Given the description of an element on the screen output the (x, y) to click on. 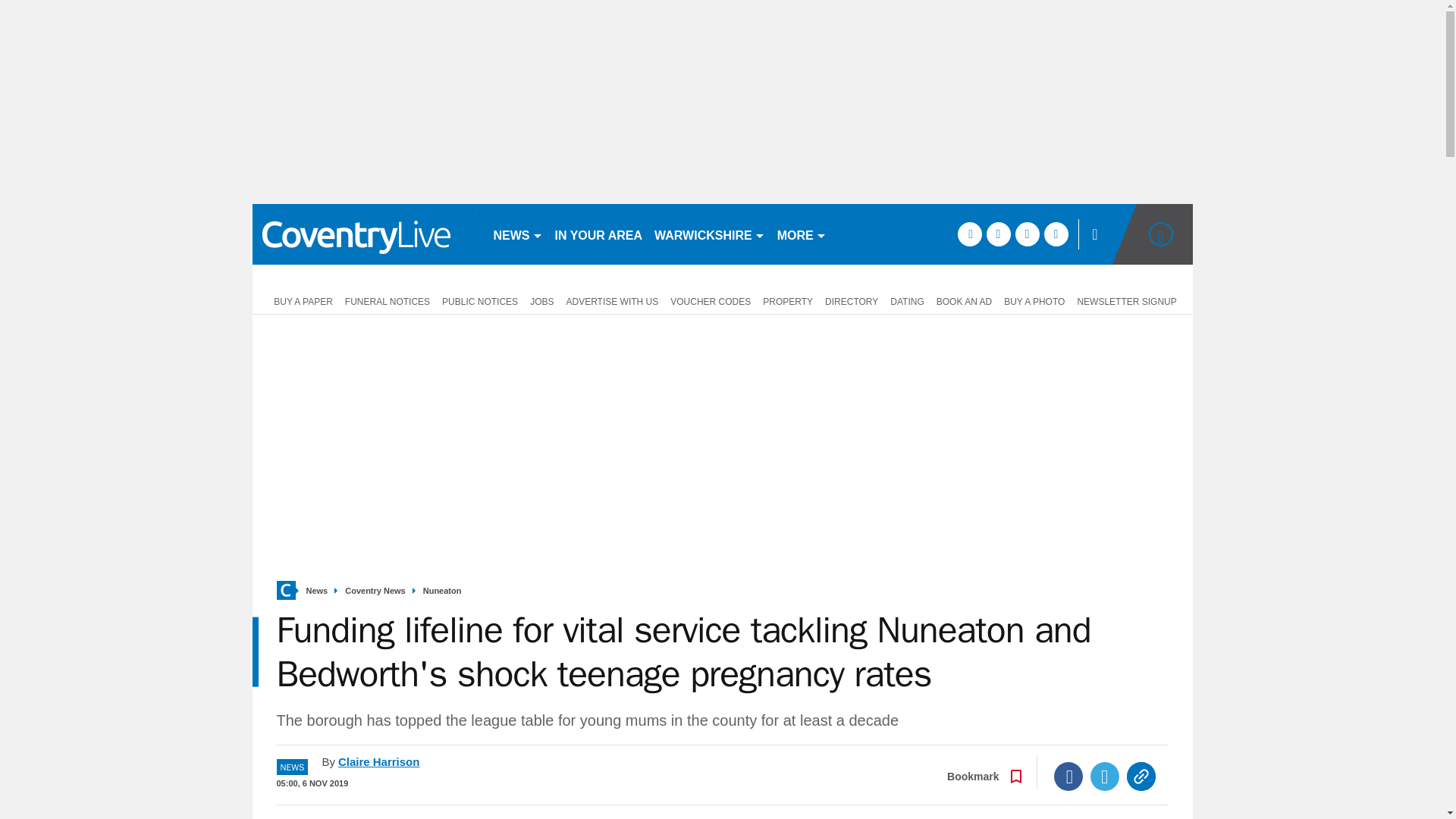
Facebook (1068, 776)
coventrytelegraph (365, 233)
NEWS (517, 233)
MORE (801, 233)
facebook (968, 233)
IN YOUR AREA (598, 233)
twitter (997, 233)
pinterest (1026, 233)
Twitter (1104, 776)
WARWICKSHIRE (709, 233)
